Given the description of an element on the screen output the (x, y) to click on. 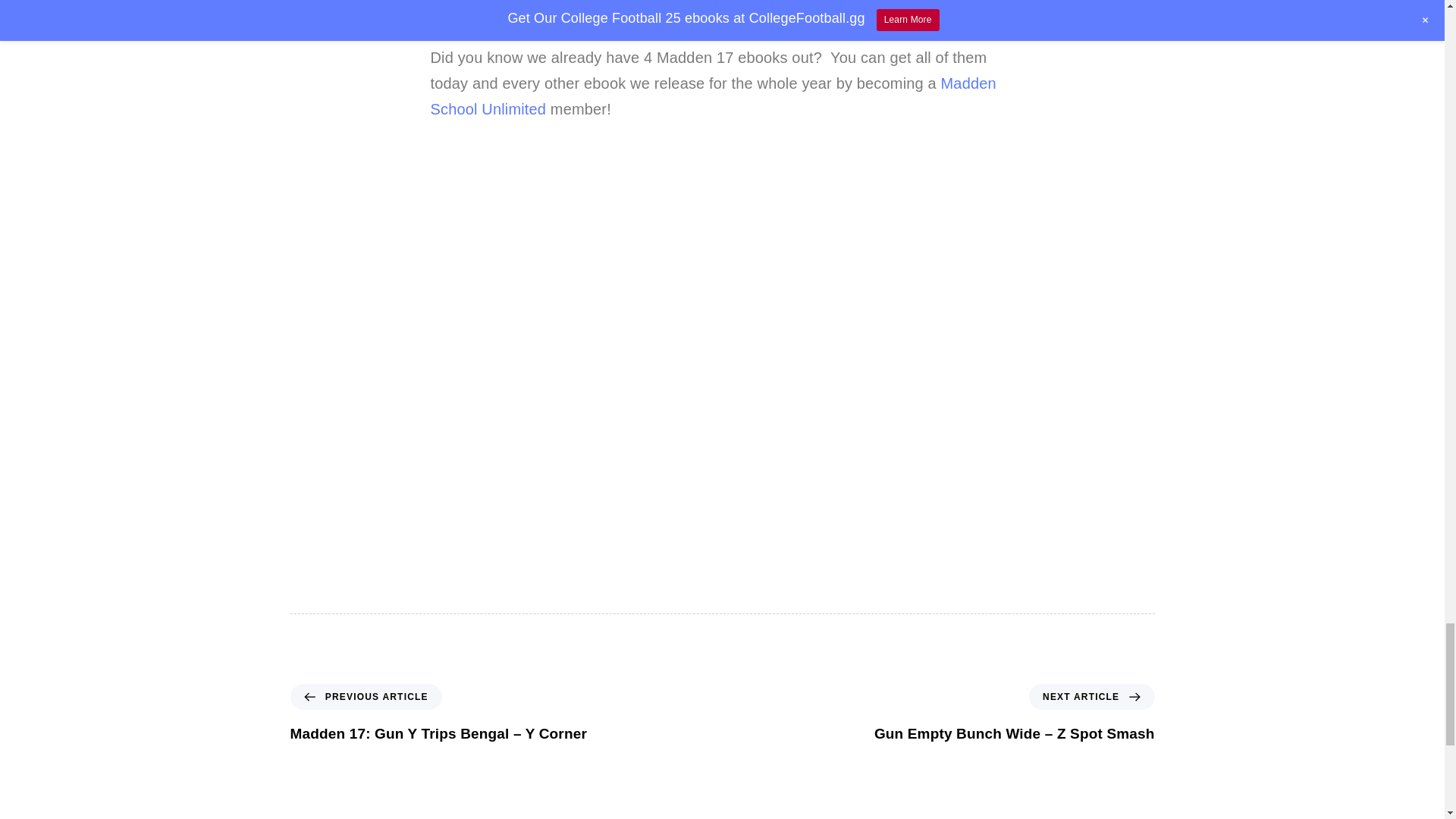
Madden School Unlimited (712, 96)
